Given the description of an element on the screen output the (x, y) to click on. 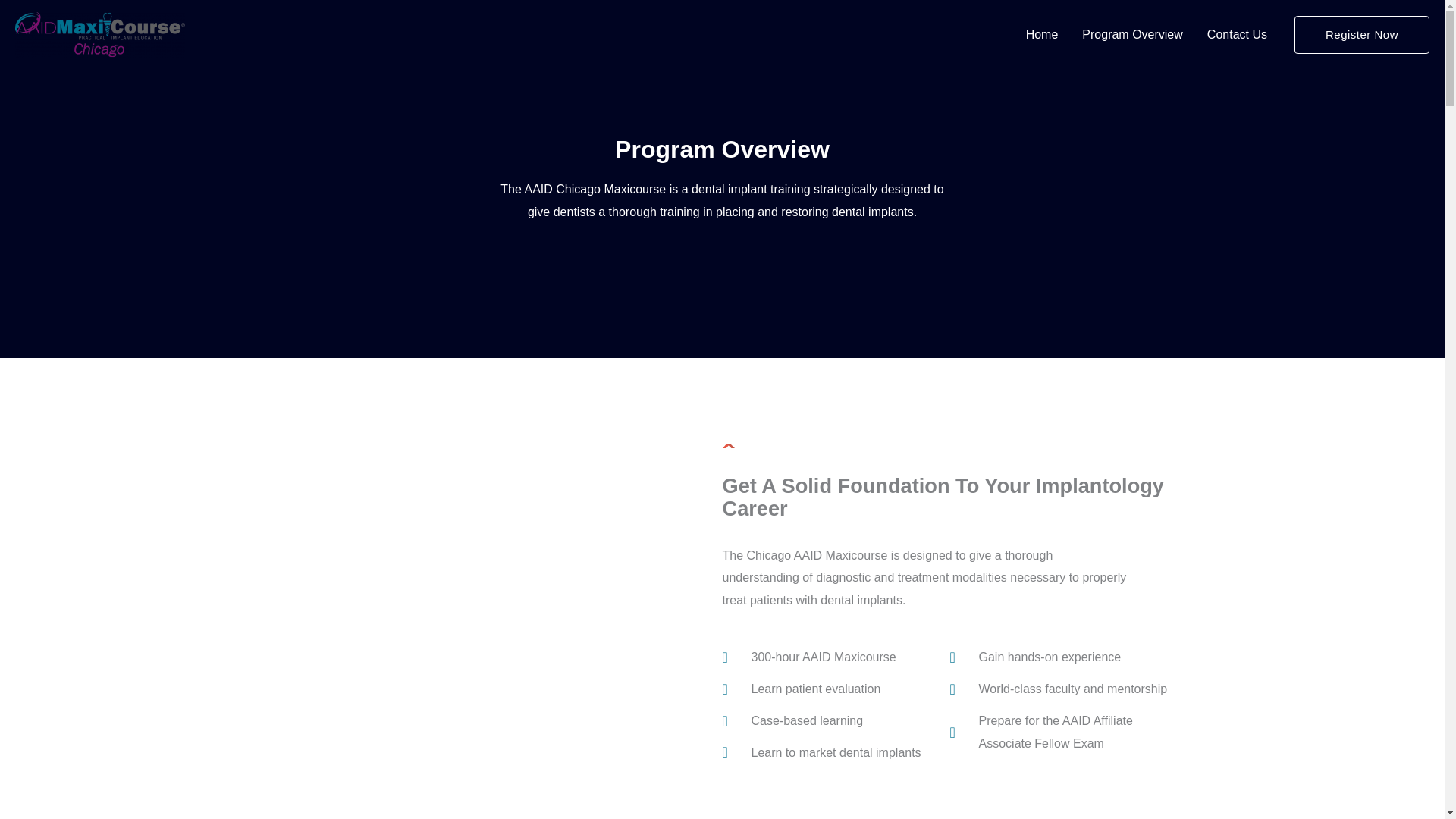
Register Now (1361, 34)
Home (1041, 34)
Program Overview (1131, 34)
Contact Us (1237, 34)
